Given the description of an element on the screen output the (x, y) to click on. 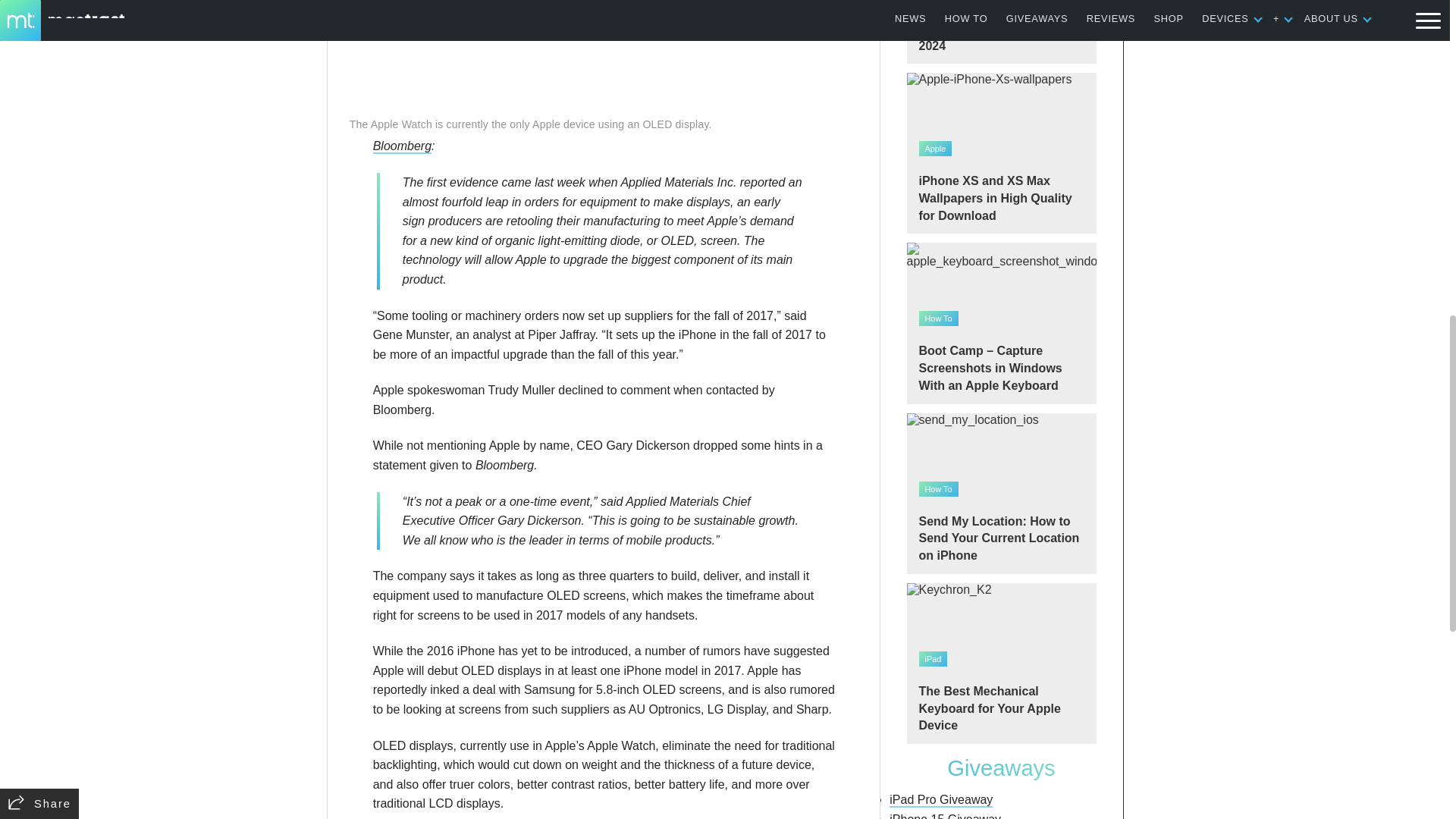
Apple TV Screensavers and Their Locations Identified 2024 (1001, 31)
The Best Mechanical Keyboard for Your Apple Device (1001, 663)
Report: Apple OLED Suppliers Gear up for 2017 iPhone (603, 55)
iPhone XS and XS Max Wallpapers in High Quality for Download (1001, 152)
